Given the description of an element on the screen output the (x, y) to click on. 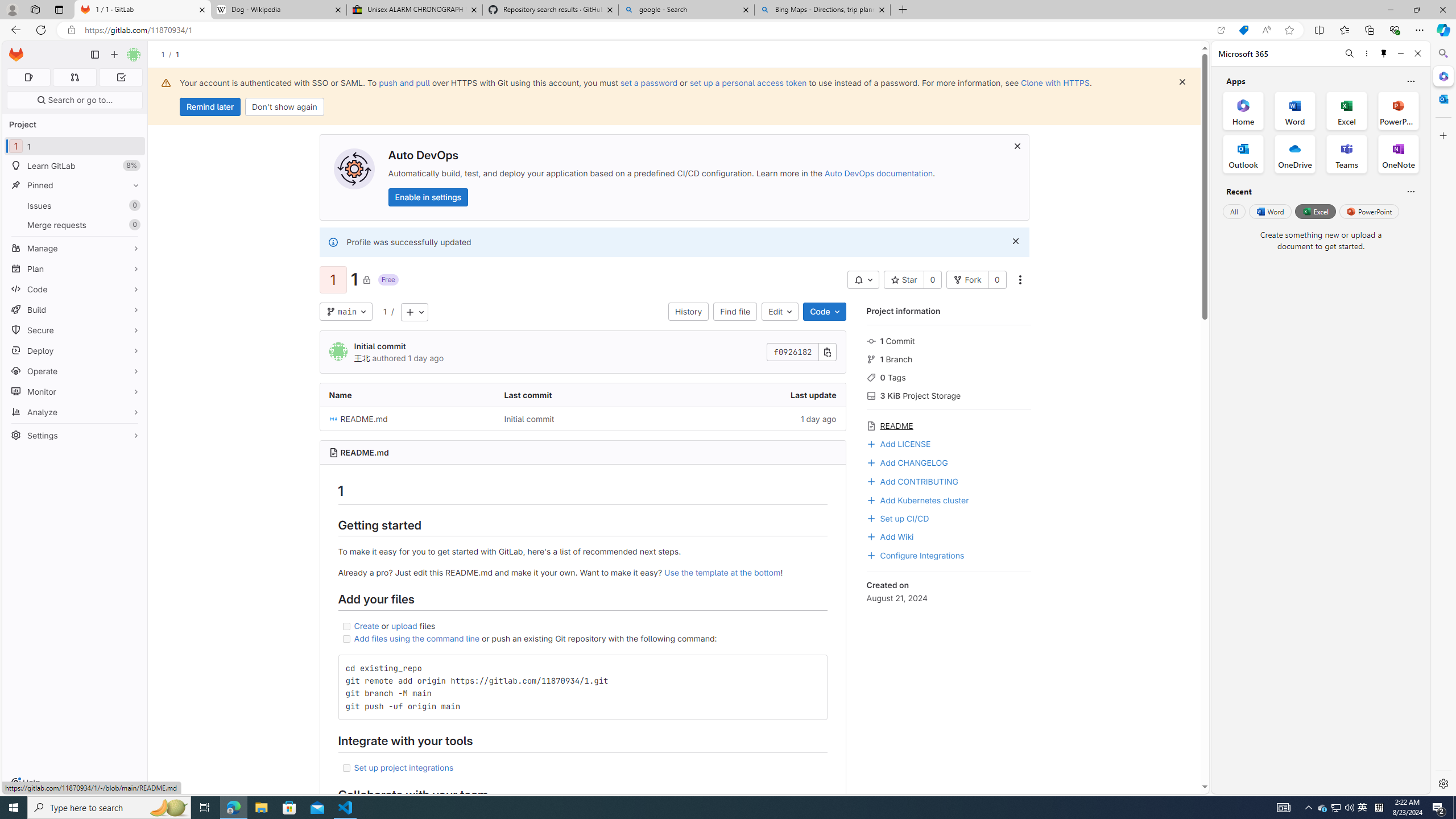
Word Office App (1295, 110)
Outlook Office App (1243, 154)
1 Commit (948, 340)
Add CHANGELOG (948, 461)
set up a personal access token (747, 82)
Pinned (74, 185)
Class: btn btn-default btn-md gl-button btn-icon has-tooltip (813, 667)
Issues0 (74, 205)
Set up project integrations (403, 767)
Set up CI/CD (897, 517)
0 Tags (948, 376)
Create new... (113, 54)
Learn GitLab8% (74, 165)
